Given the description of an element on the screen output the (x, y) to click on. 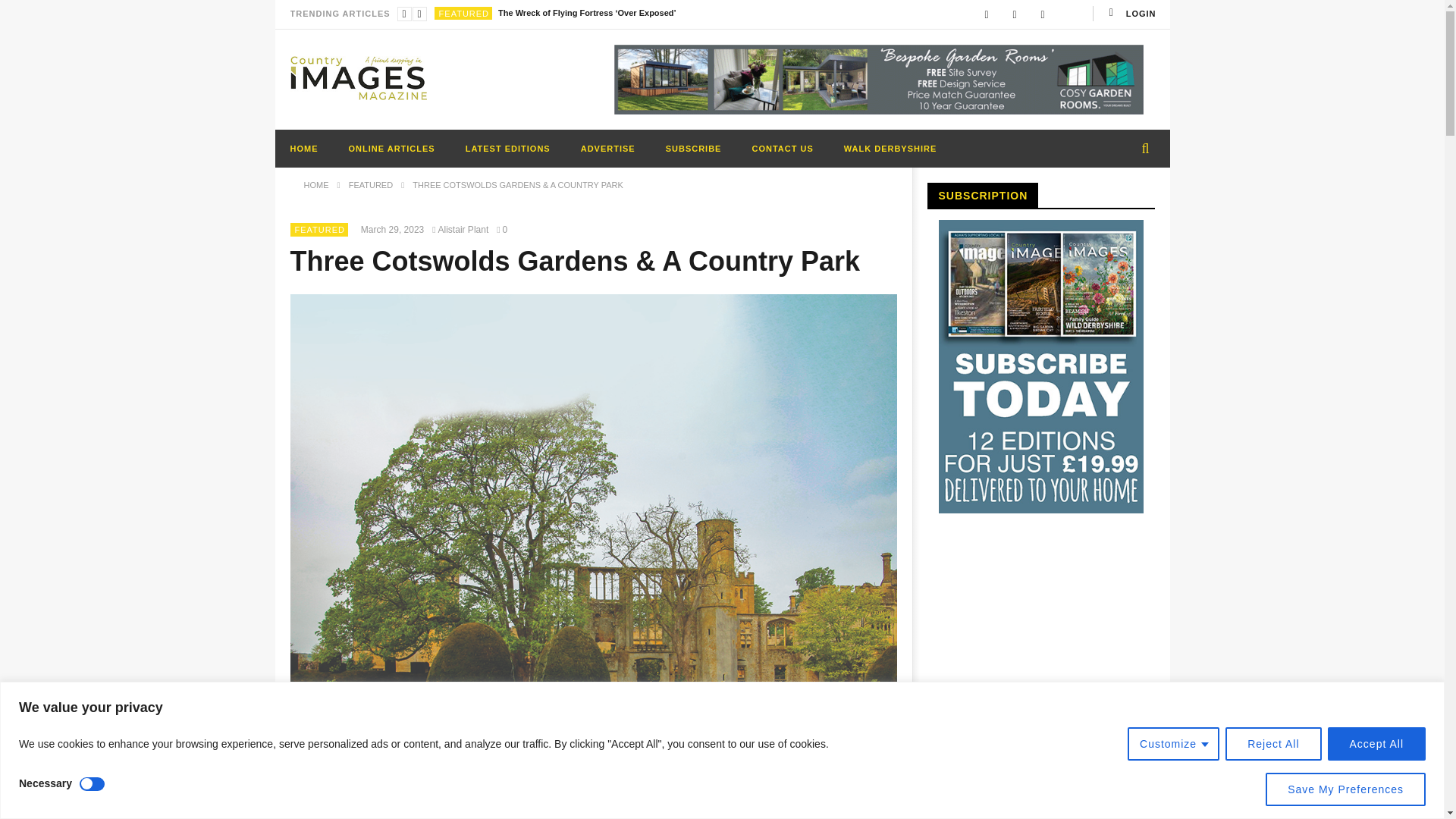
on (92, 784)
View all posts in Featured (464, 13)
Save My Preferences (1345, 788)
Accept All (1376, 743)
Customize (1173, 743)
FEATURED (464, 13)
Reject All (1272, 743)
